Given the description of an element on the screen output the (x, y) to click on. 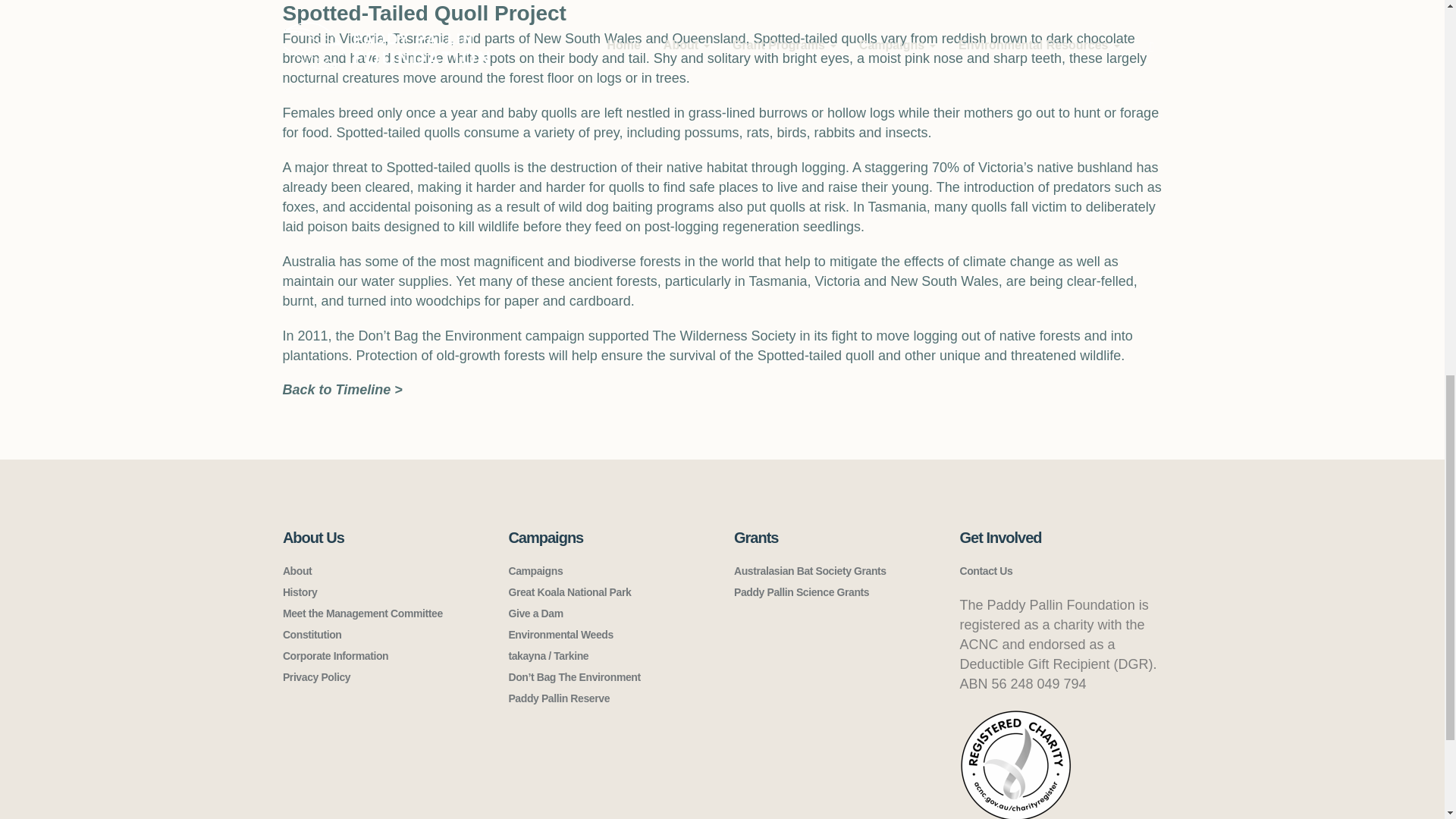
Privacy Policy (316, 676)
History (299, 592)
Corporate Information (335, 655)
About (296, 571)
Meet the Management Committee (362, 613)
Constitution (312, 634)
